Given the description of an element on the screen output the (x, y) to click on. 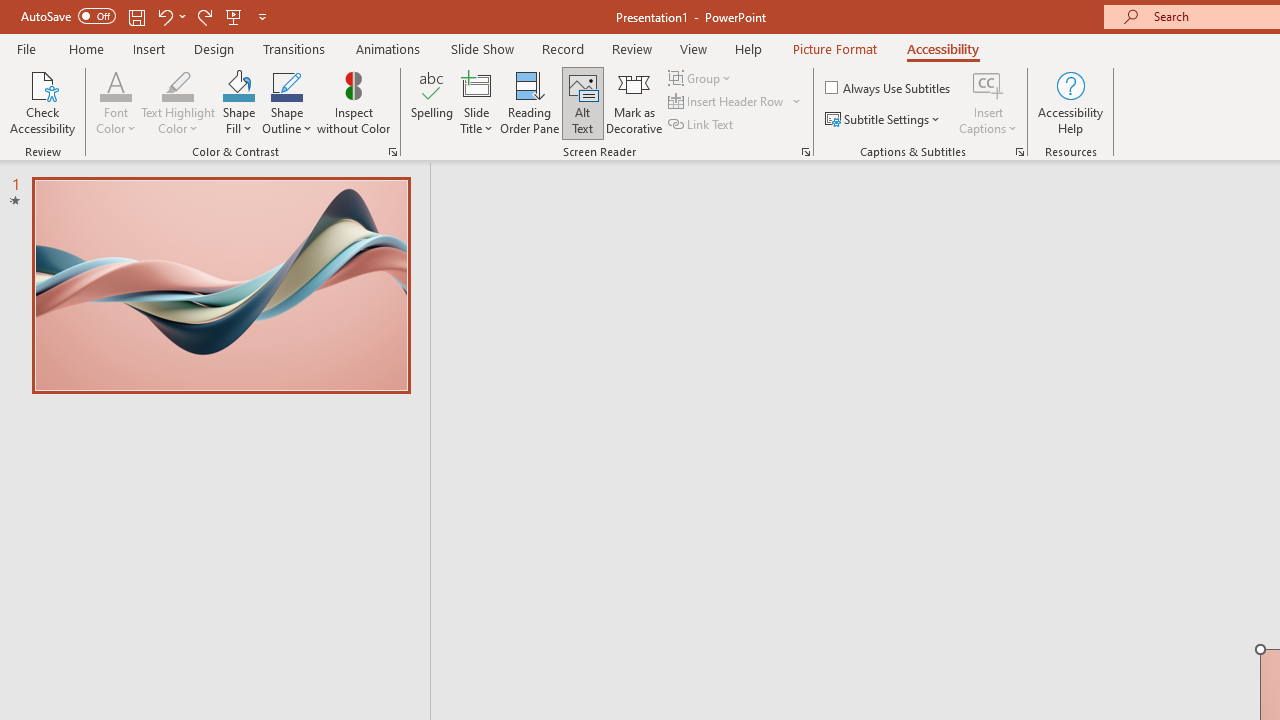
Always Use Subtitles (889, 87)
Subtitle Settings (884, 119)
